Given the description of an element on the screen output the (x, y) to click on. 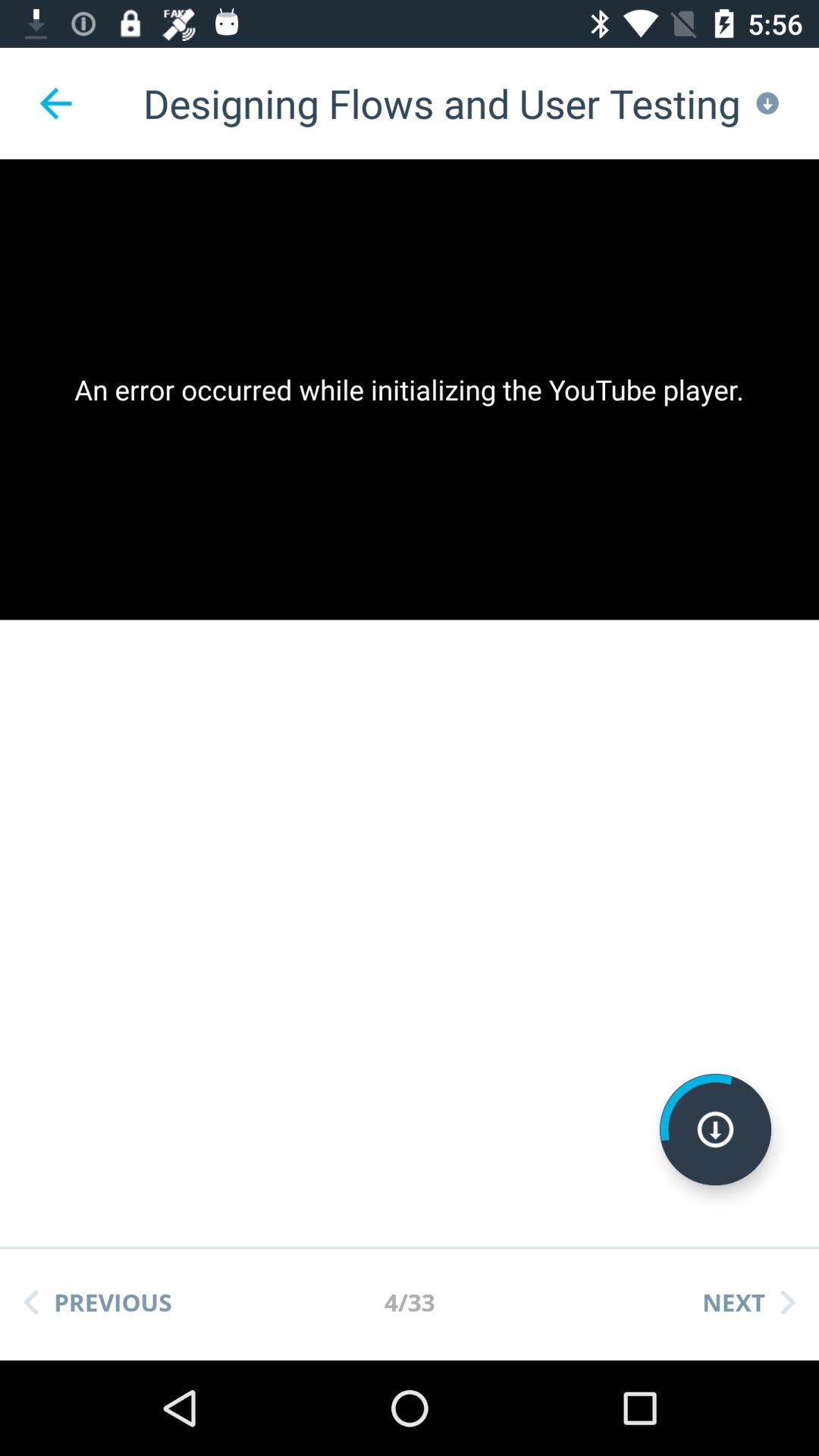
swipe to the previous item (97, 1302)
